Given the description of an element on the screen output the (x, y) to click on. 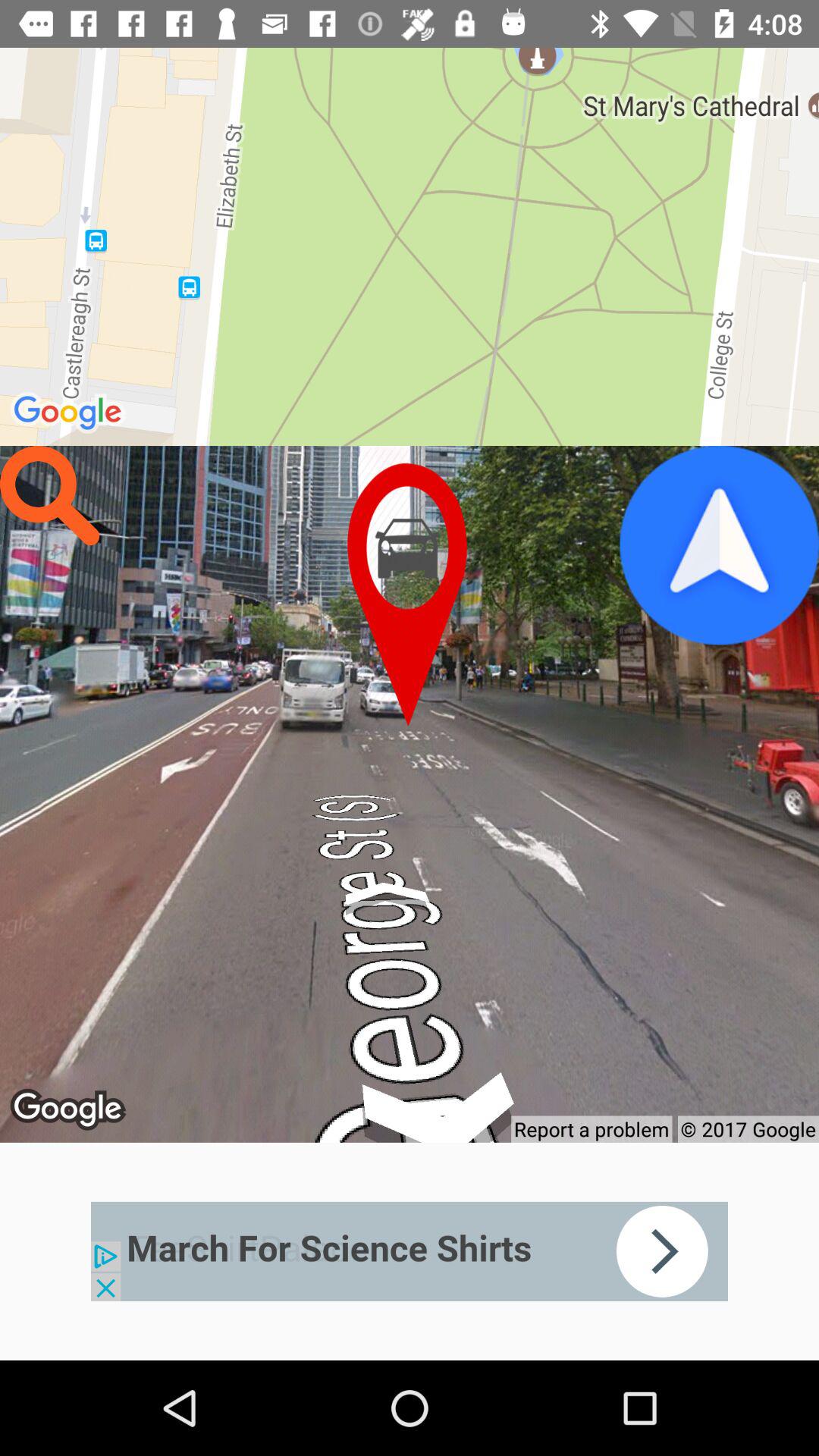
search (49, 495)
